Given the description of an element on the screen output the (x, y) to click on. 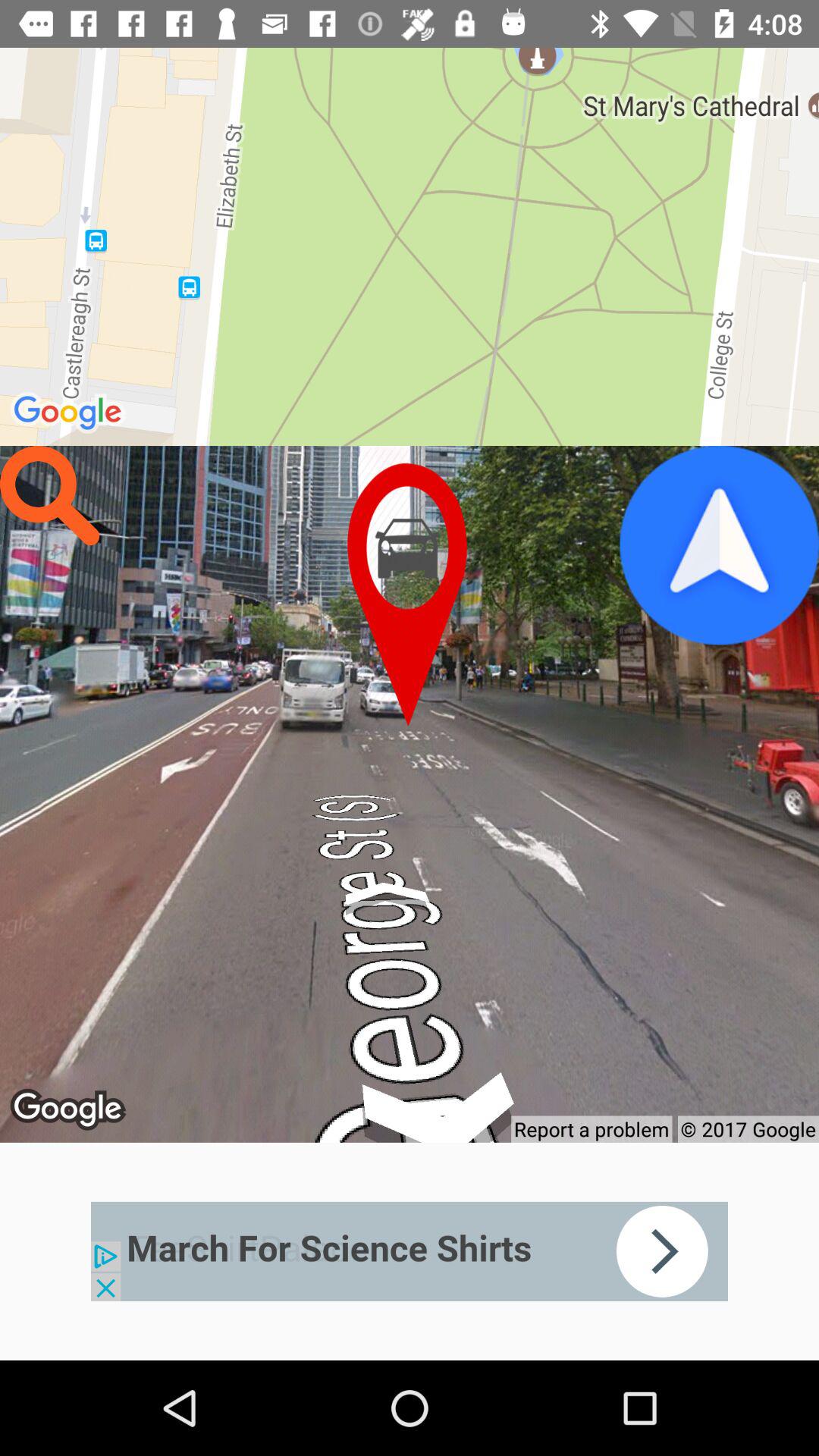
search (49, 495)
